Given the description of an element on the screen output the (x, y) to click on. 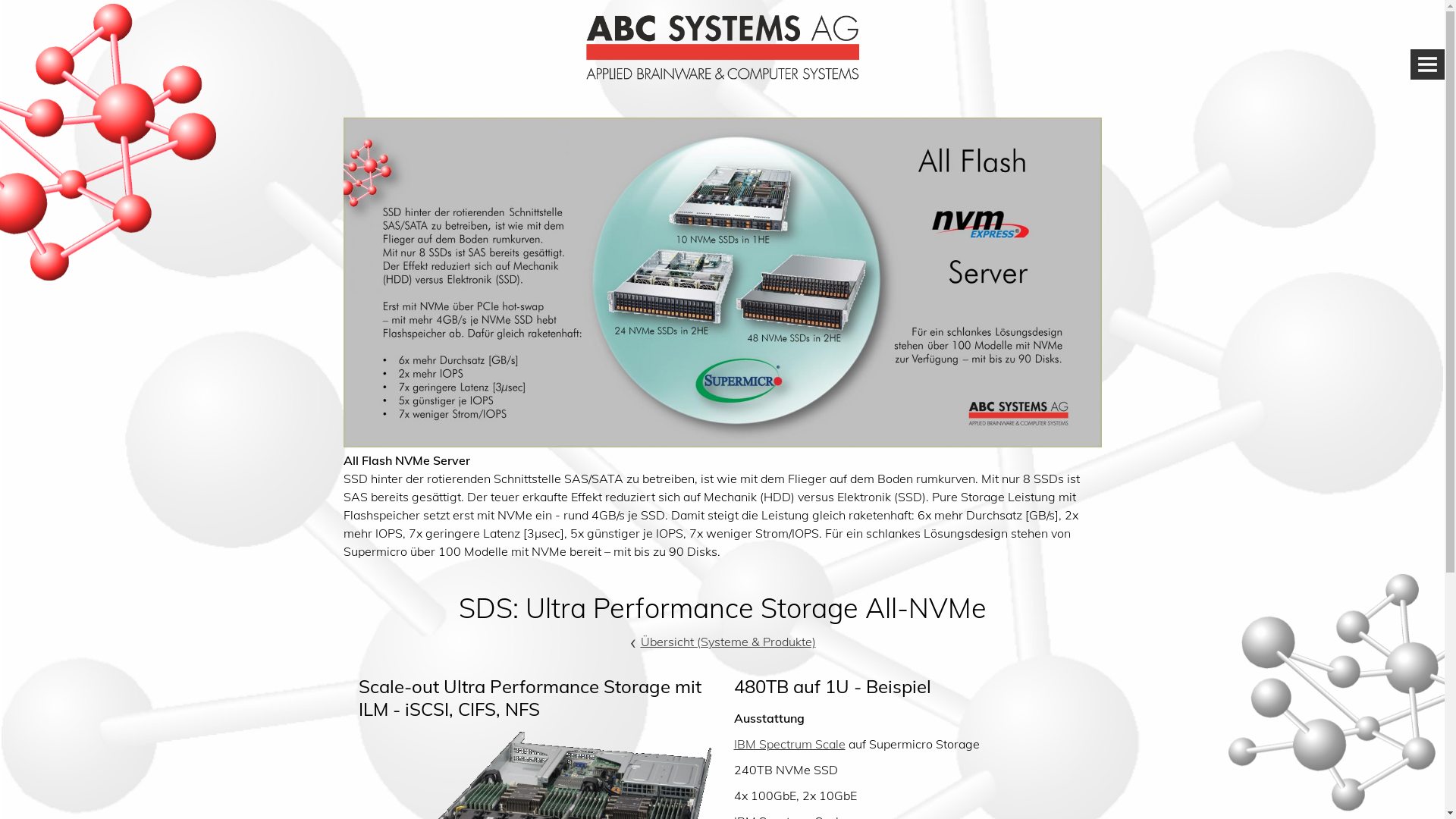
IBM Spectrum Scale Element type: text (789, 743)
Home Element type: hover (721, 74)
